Given the description of an element on the screen output the (x, y) to click on. 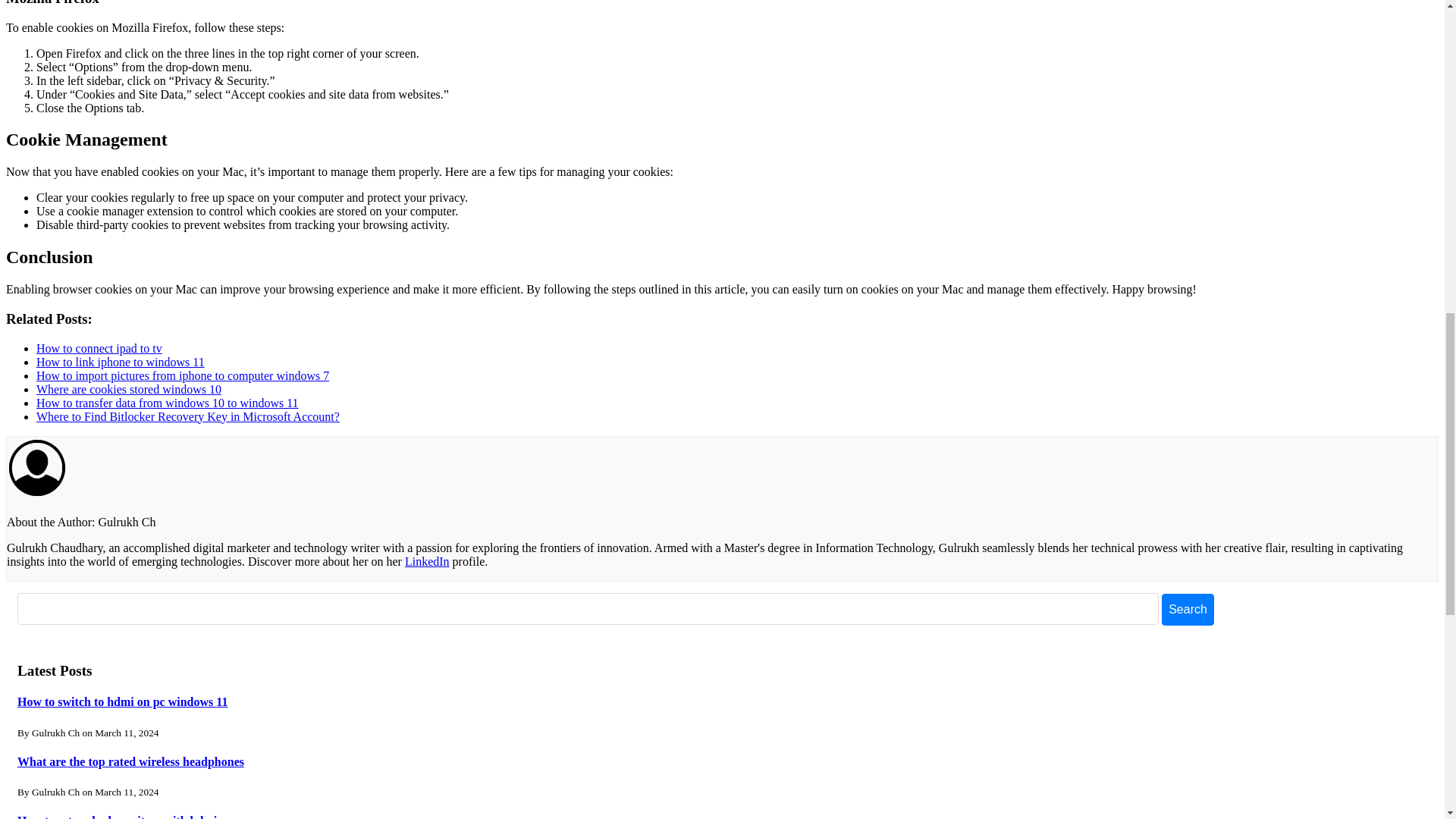
What are the top rated wireless headphones (130, 761)
Where to Find Bitlocker Recovery Key in Microsoft Account? (187, 416)
How to setup dual monitors with hdmi (116, 816)
How to switch to hdmi on pc windows 11 (122, 701)
Search (1187, 609)
How to connect ipad to tv (98, 348)
LinkedIn (426, 561)
How to link iphone to windows 11 (120, 361)
How to import pictures from iphone to computer windows 7 (182, 375)
Where are cookies stored windows 10 (128, 389)
